Given the description of an element on the screen output the (x, y) to click on. 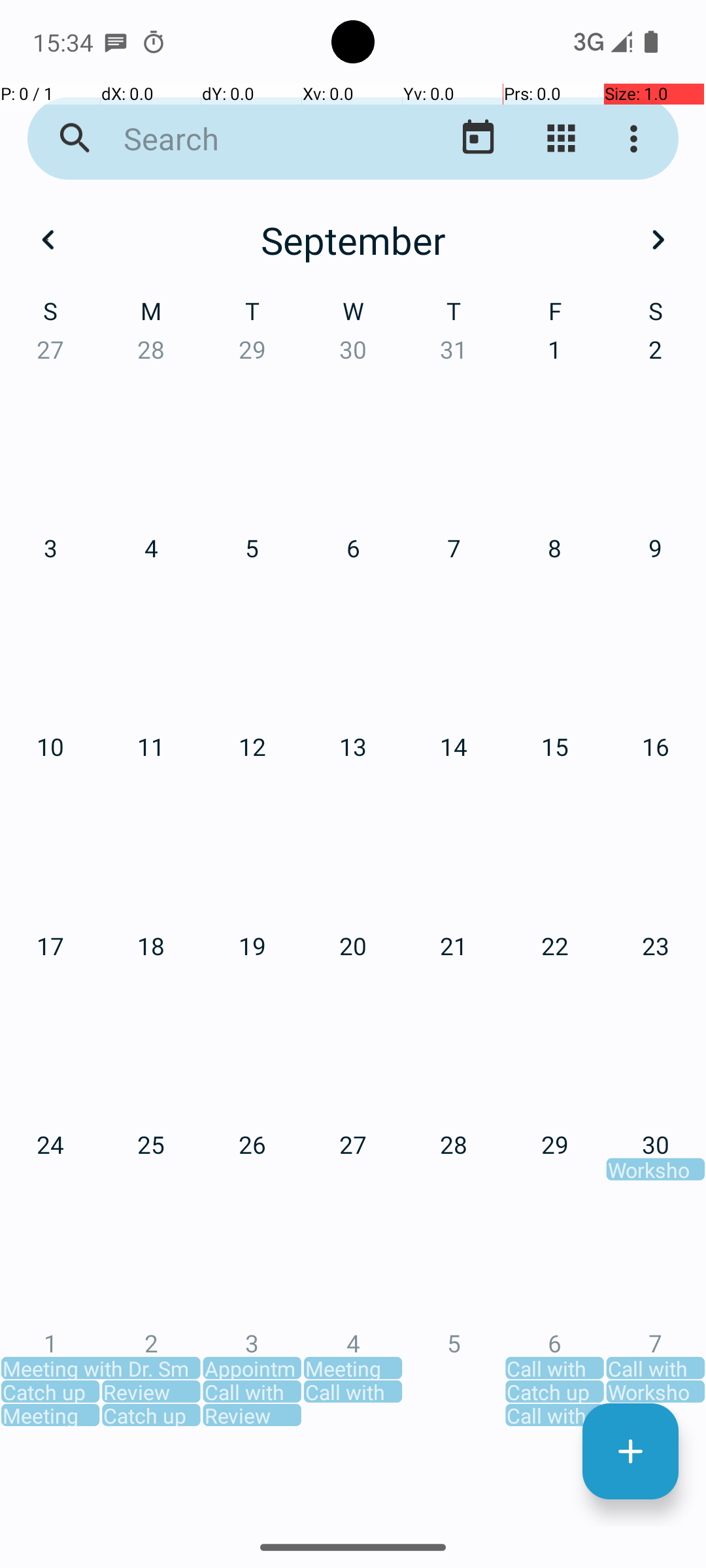
September Element type: android.widget.TextView (352, 239)
